Given the description of an element on the screen output the (x, y) to click on. 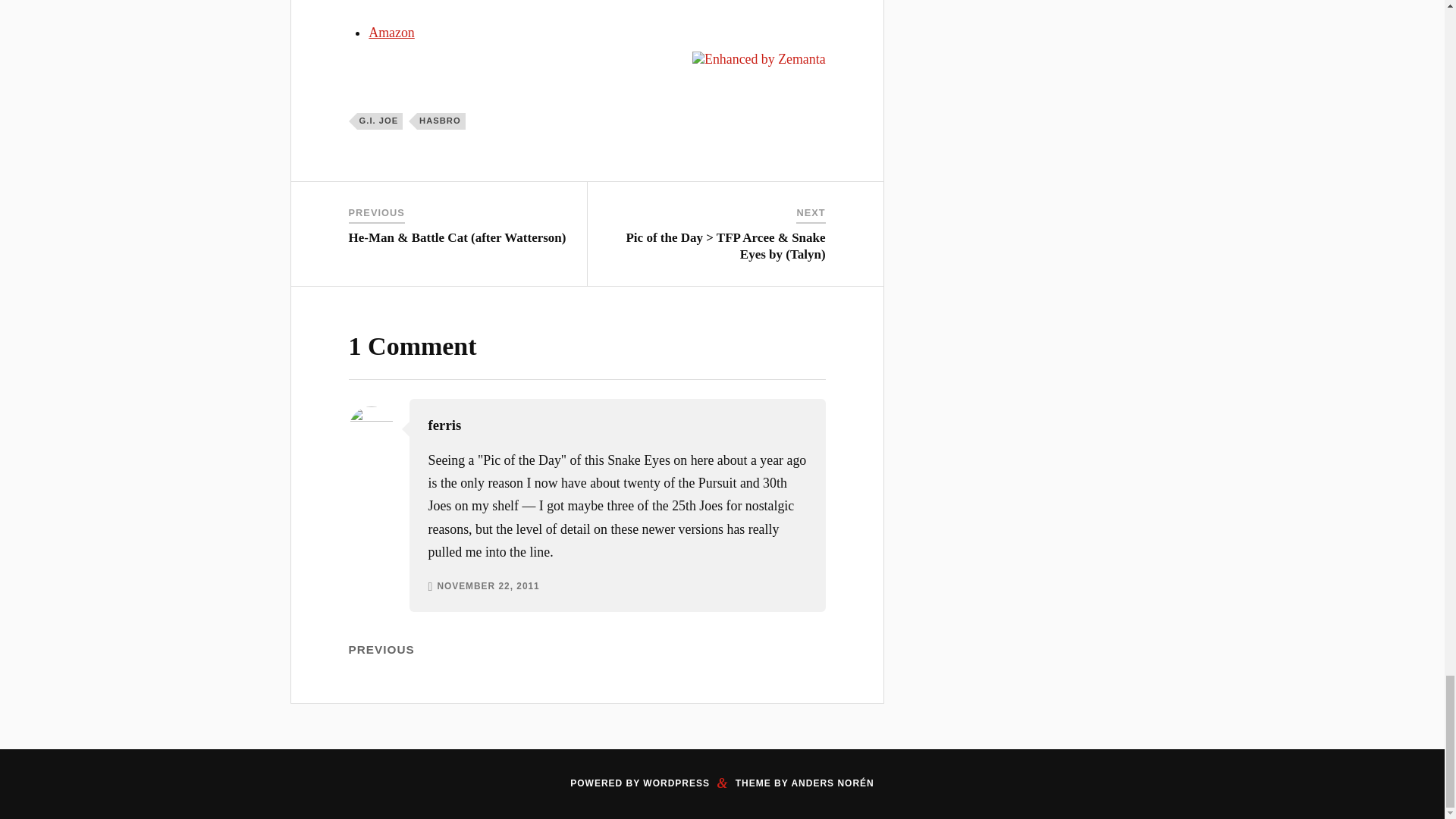
Amazon (390, 32)
